Given the description of an element on the screen output the (x, y) to click on. 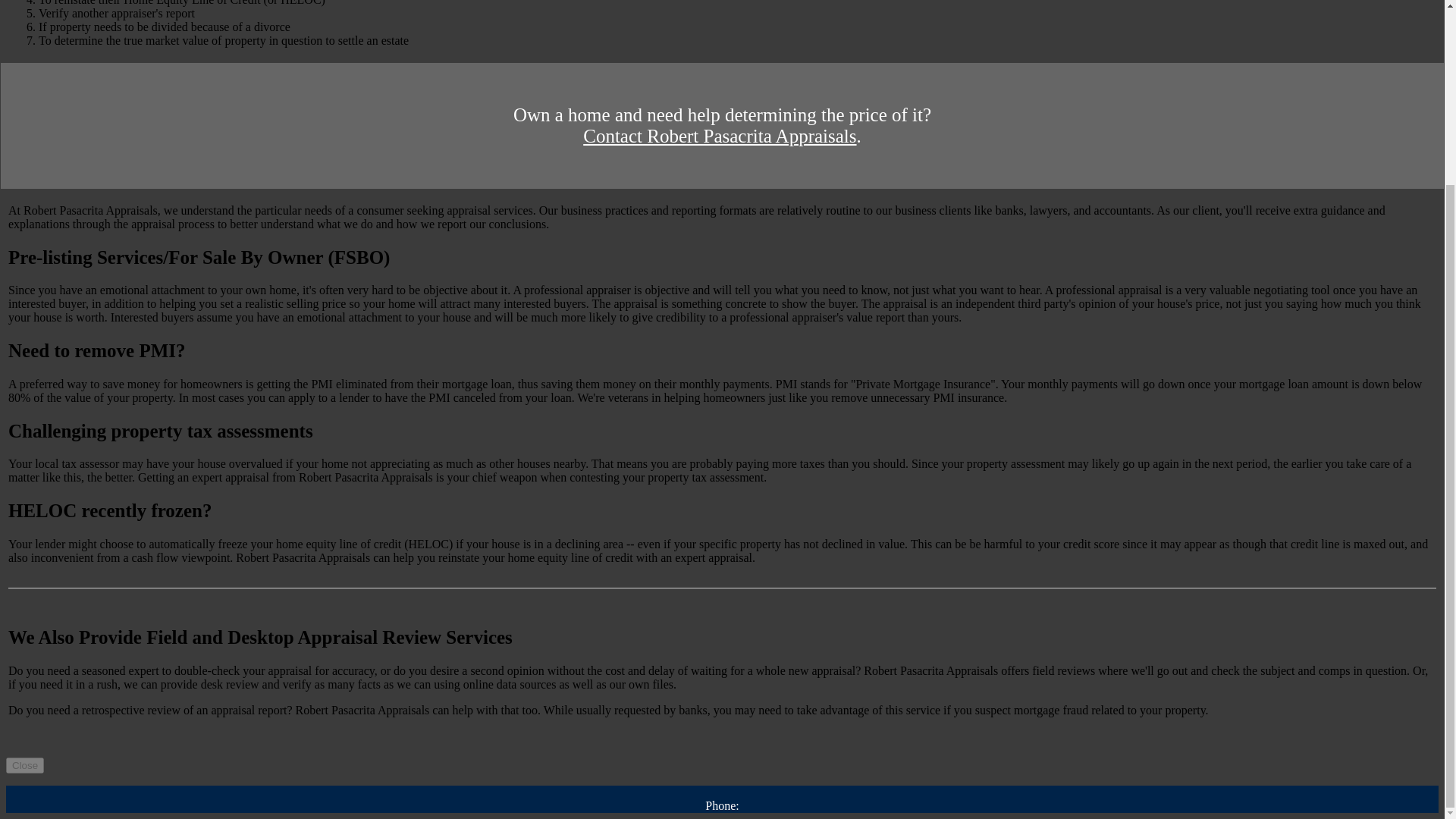
Close (24, 765)
Contact Robert Pasacrita Appraisals (719, 136)
